Given the description of an element on the screen output the (x, y) to click on. 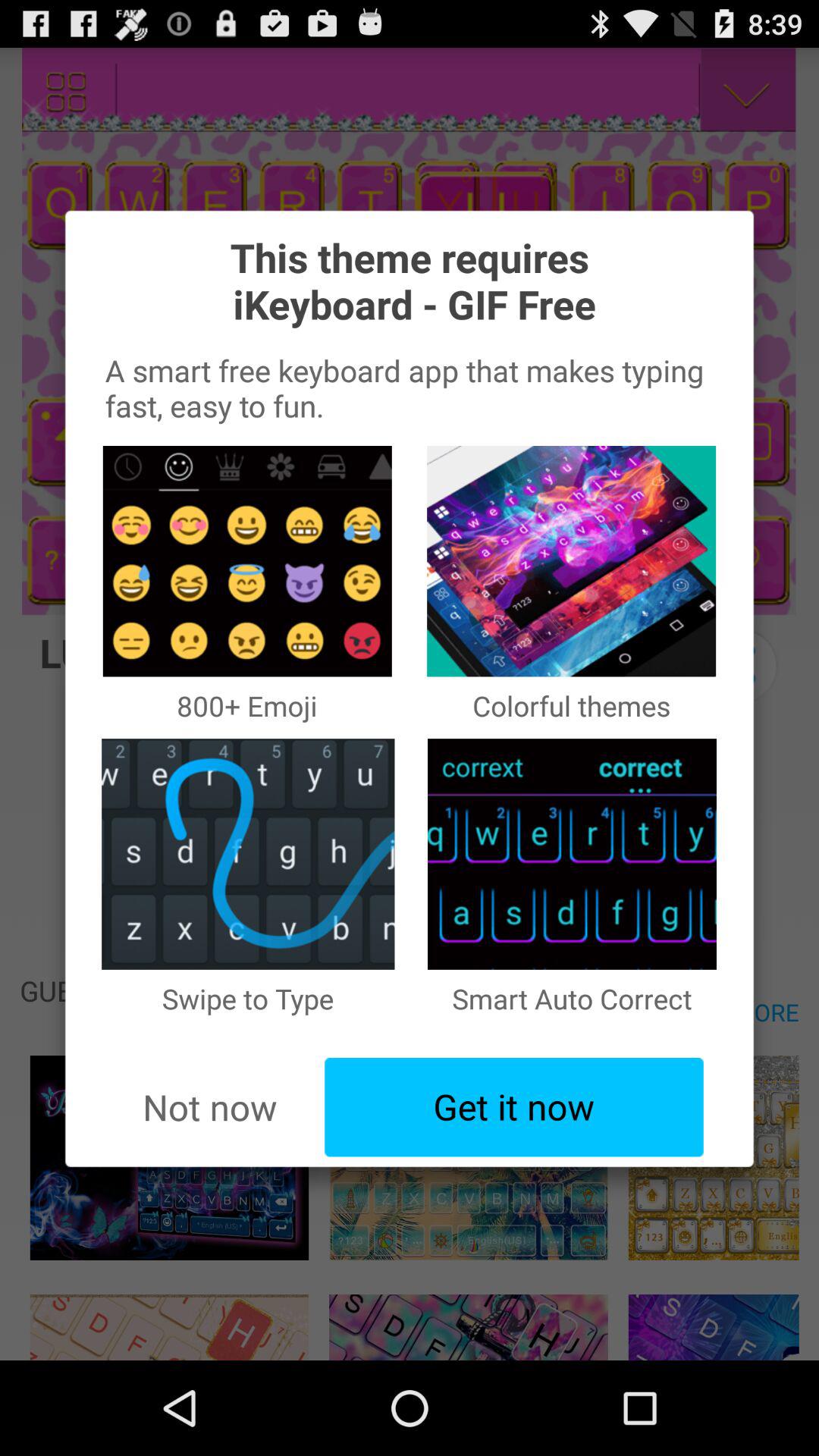
click the app below the swipe to type item (209, 1106)
